Given the description of an element on the screen output the (x, y) to click on. 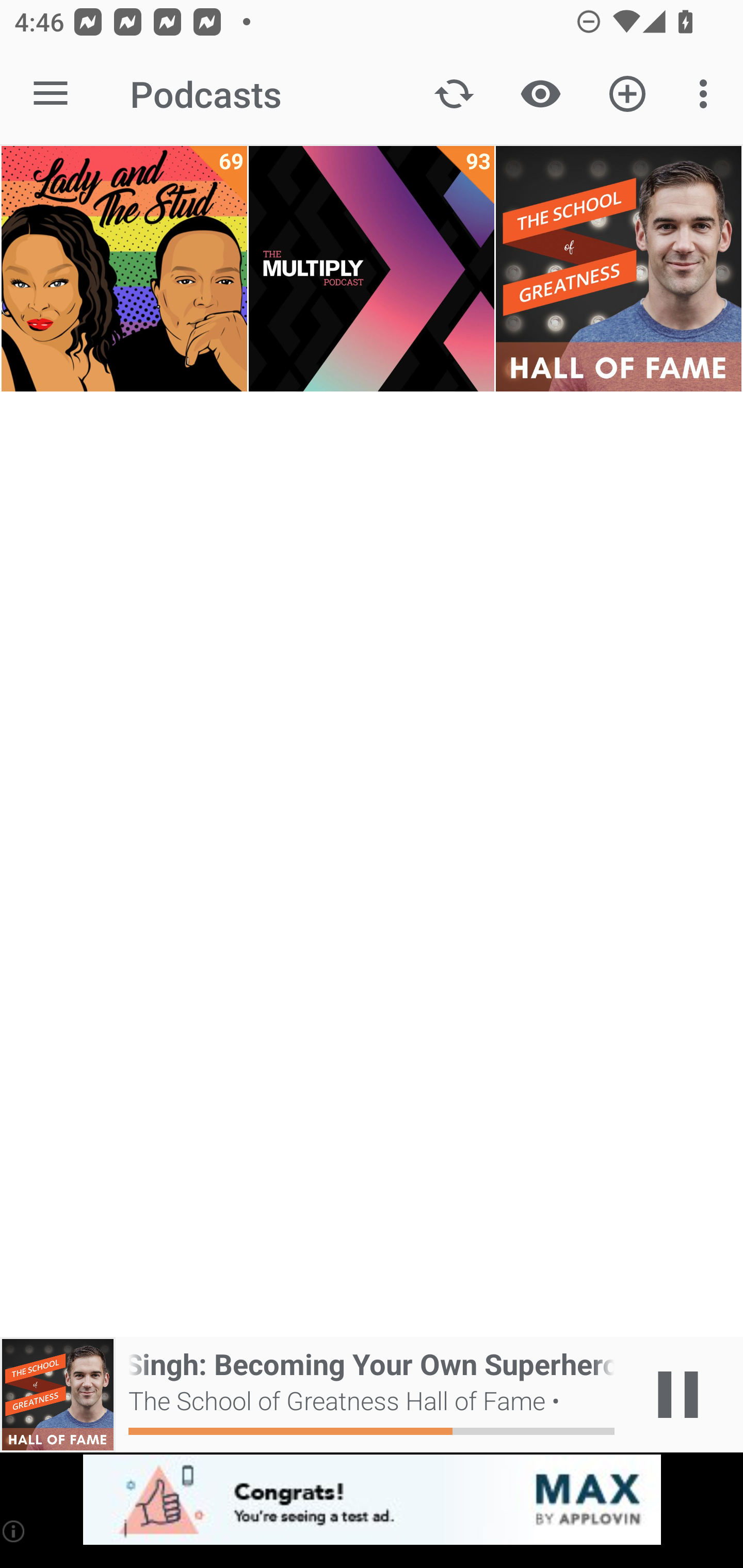
Open navigation sidebar (50, 93)
Update (453, 93)
Show / Hide played content (540, 93)
Add new Podcast (626, 93)
More options (706, 93)
Lady and The Stud 69 (124, 268)
The Multiply Podcast 93 (371, 268)
The School of Greatness Hall of Fame (618, 268)
Play / Pause (677, 1394)
app-monetization (371, 1500)
(i) (14, 1531)
